Given the description of an element on the screen output the (x, y) to click on. 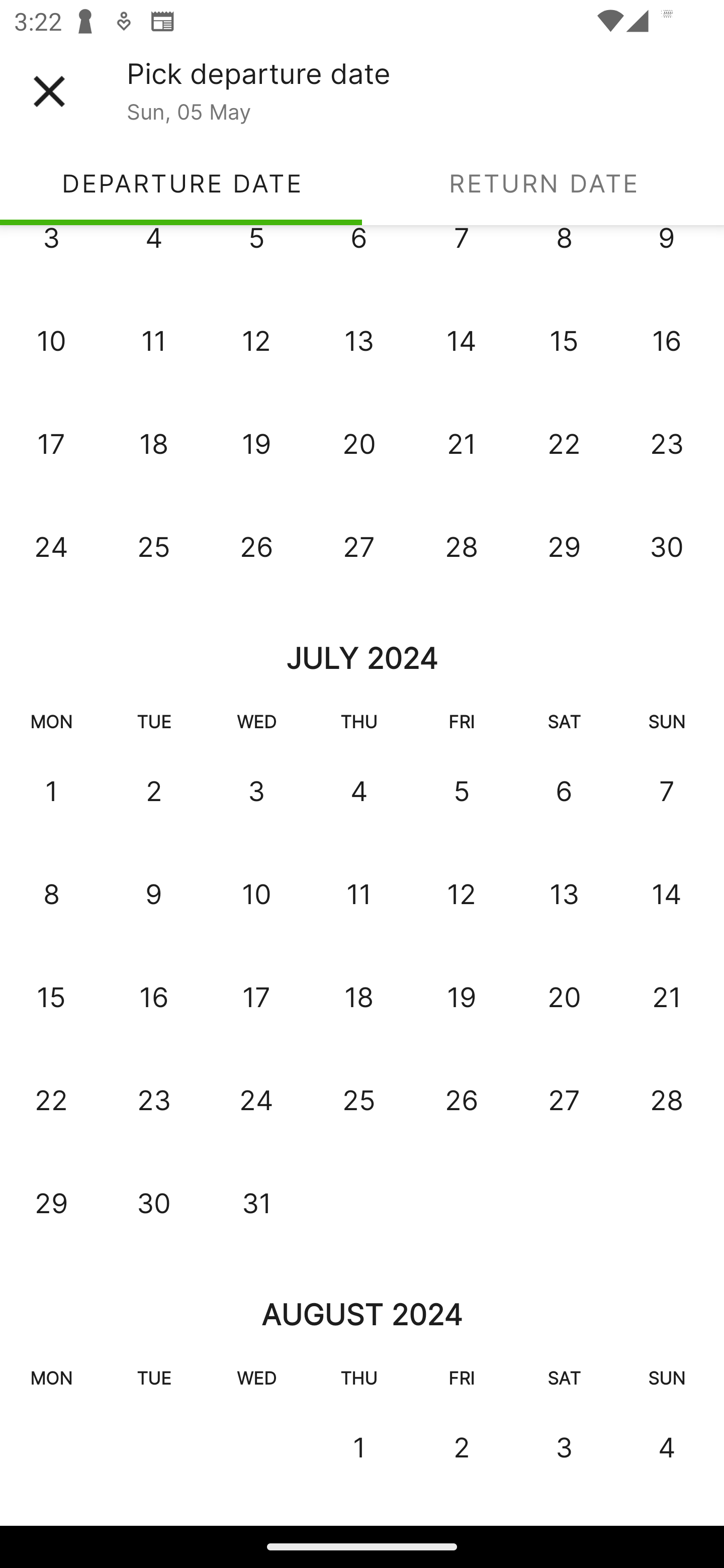
Return Date RETURN DATE (543, 183)
